Given the description of an element on the screen output the (x, y) to click on. 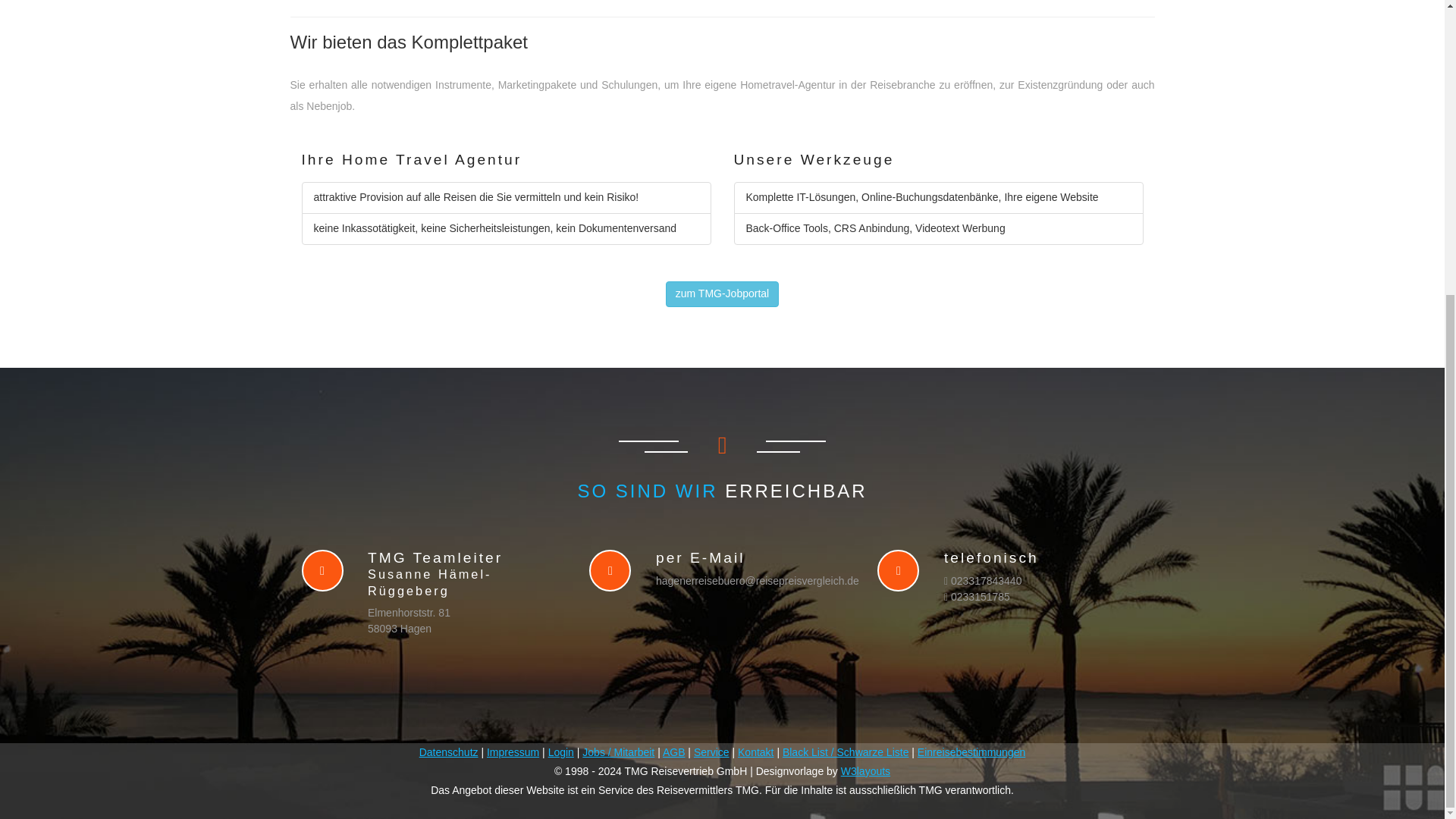
Einreisebestimmungen (971, 752)
AGB (673, 752)
Impressum (512, 752)
Login (560, 752)
Datenschutz (449, 752)
zum TMG-Jobportal (721, 294)
Kontakt (755, 752)
Service (711, 752)
